Given the description of an element on the screen output the (x, y) to click on. 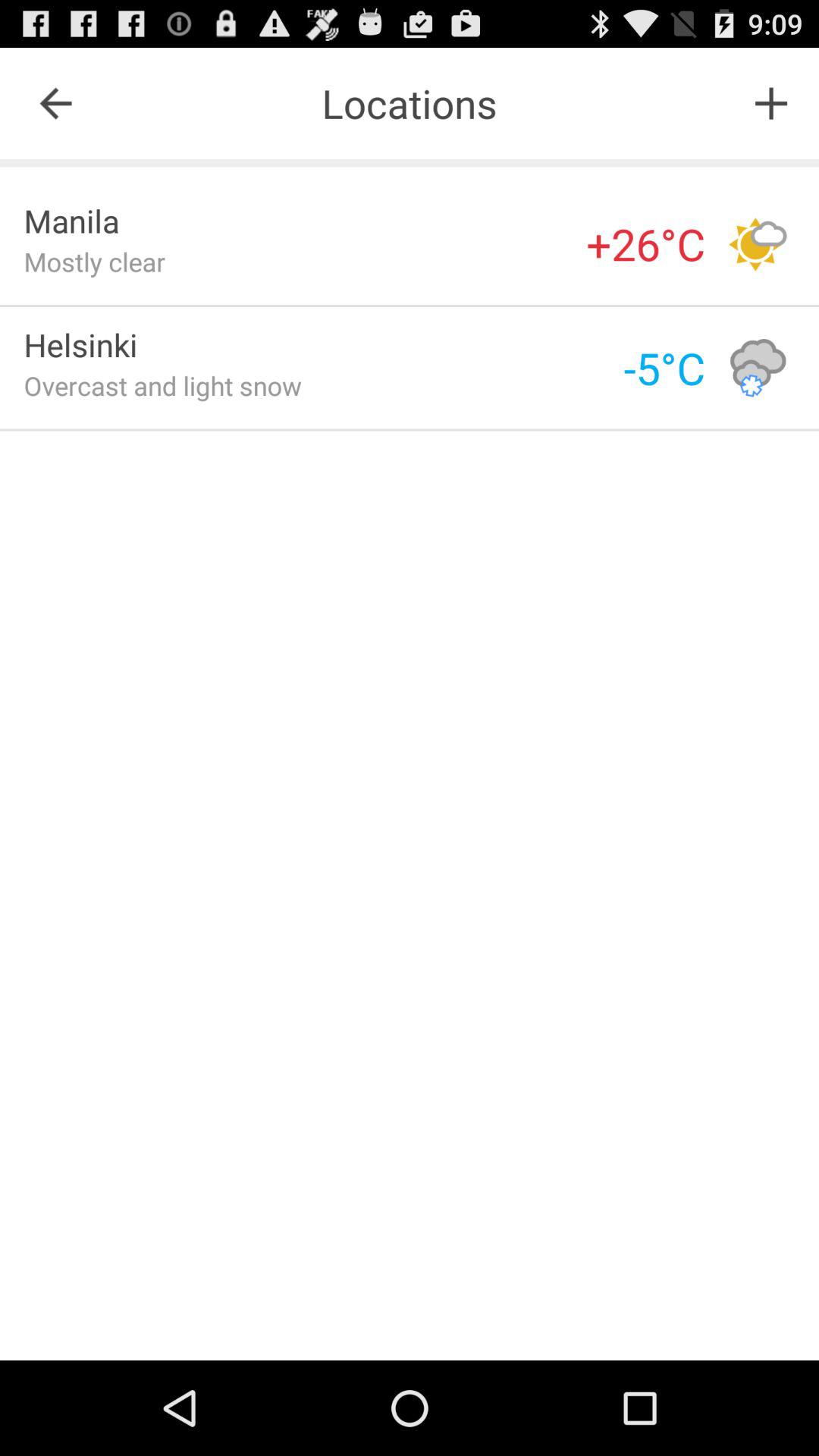
turn on icon next to the locations (771, 103)
